Given the description of an element on the screen output the (x, y) to click on. 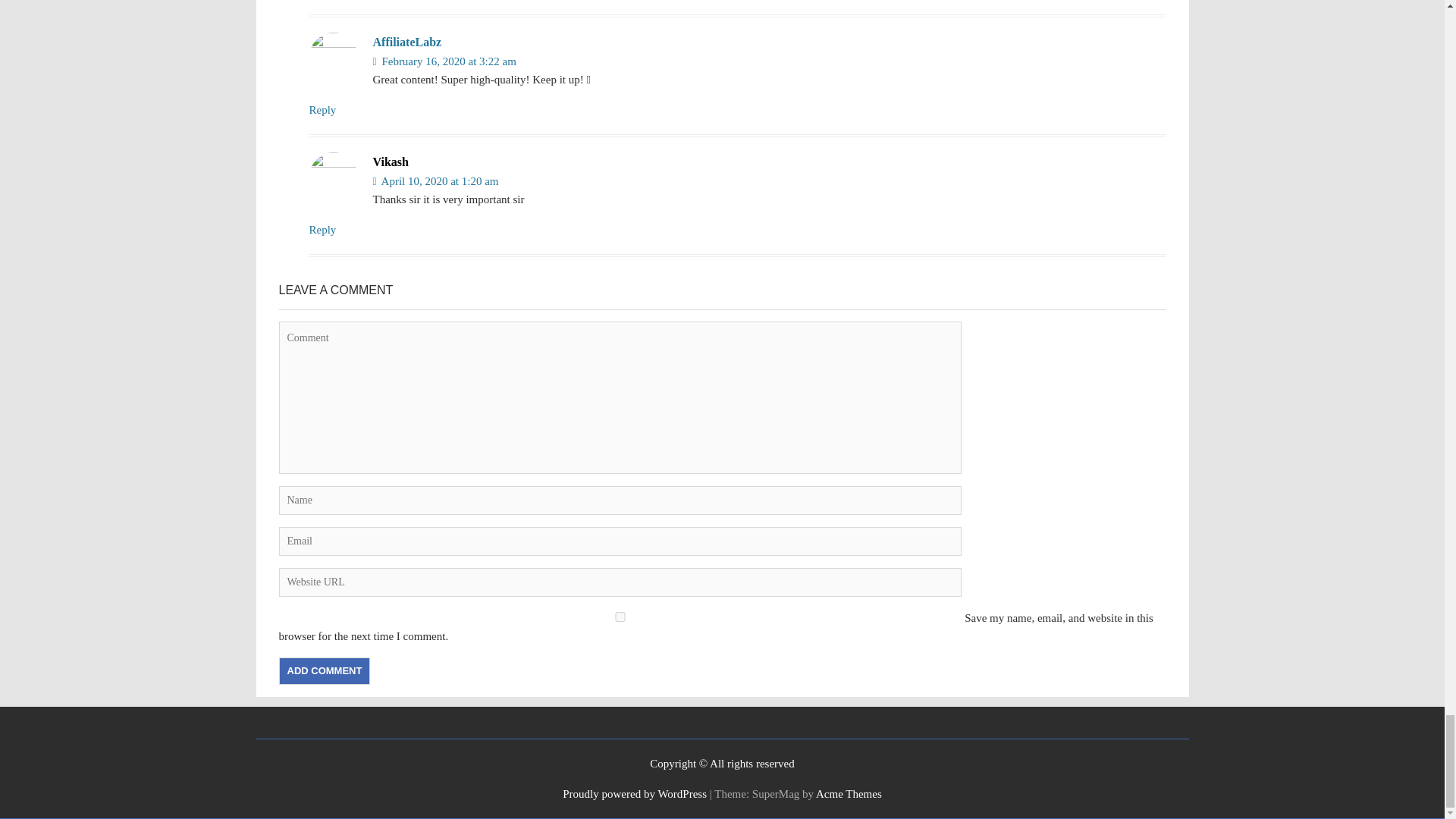
Add Comment (325, 670)
yes (620, 616)
